Given the description of an element on the screen output the (x, y) to click on. 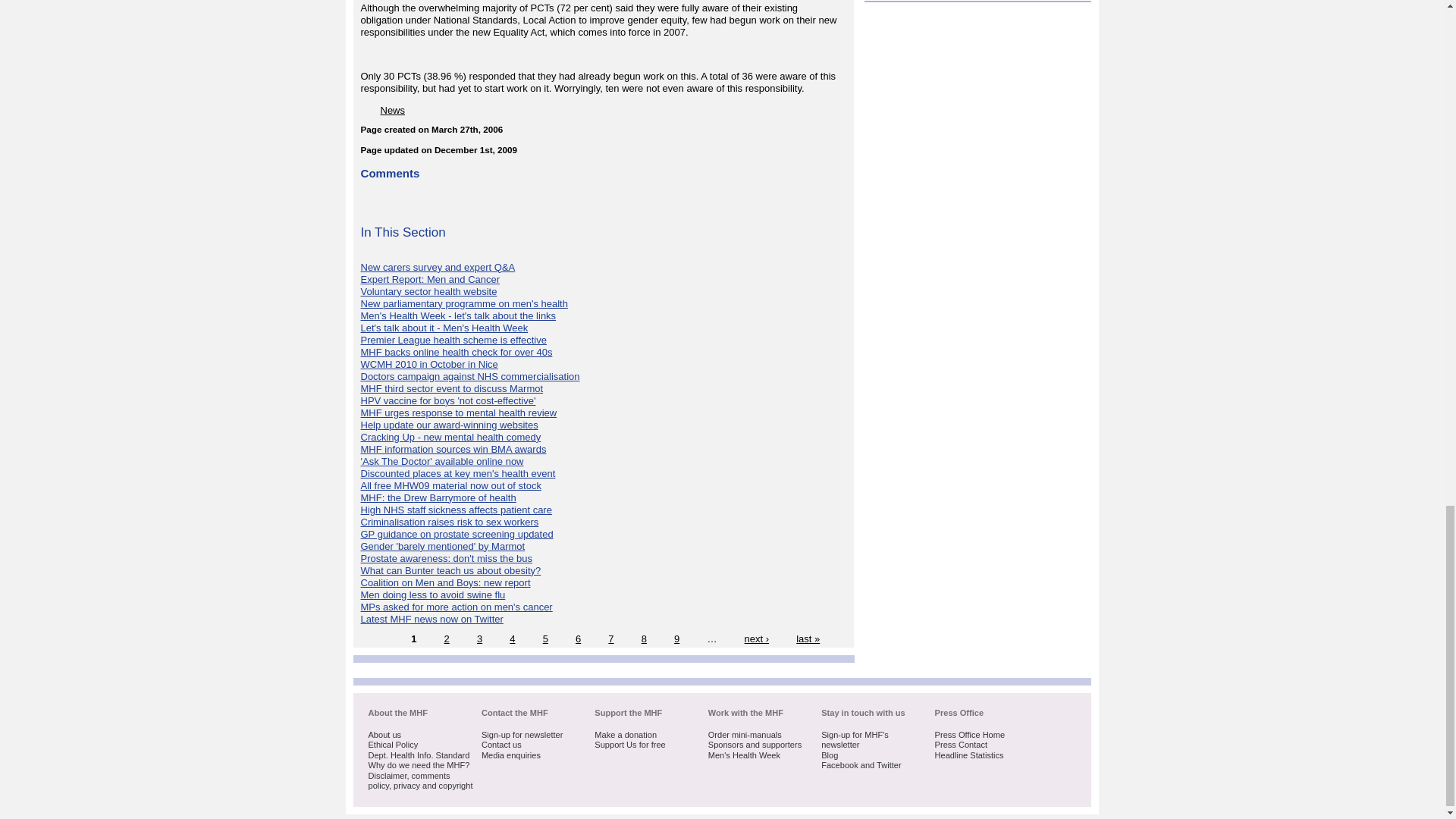
Go to next page (757, 638)
Go to last page (807, 638)
